Given the description of an element on the screen output the (x, y) to click on. 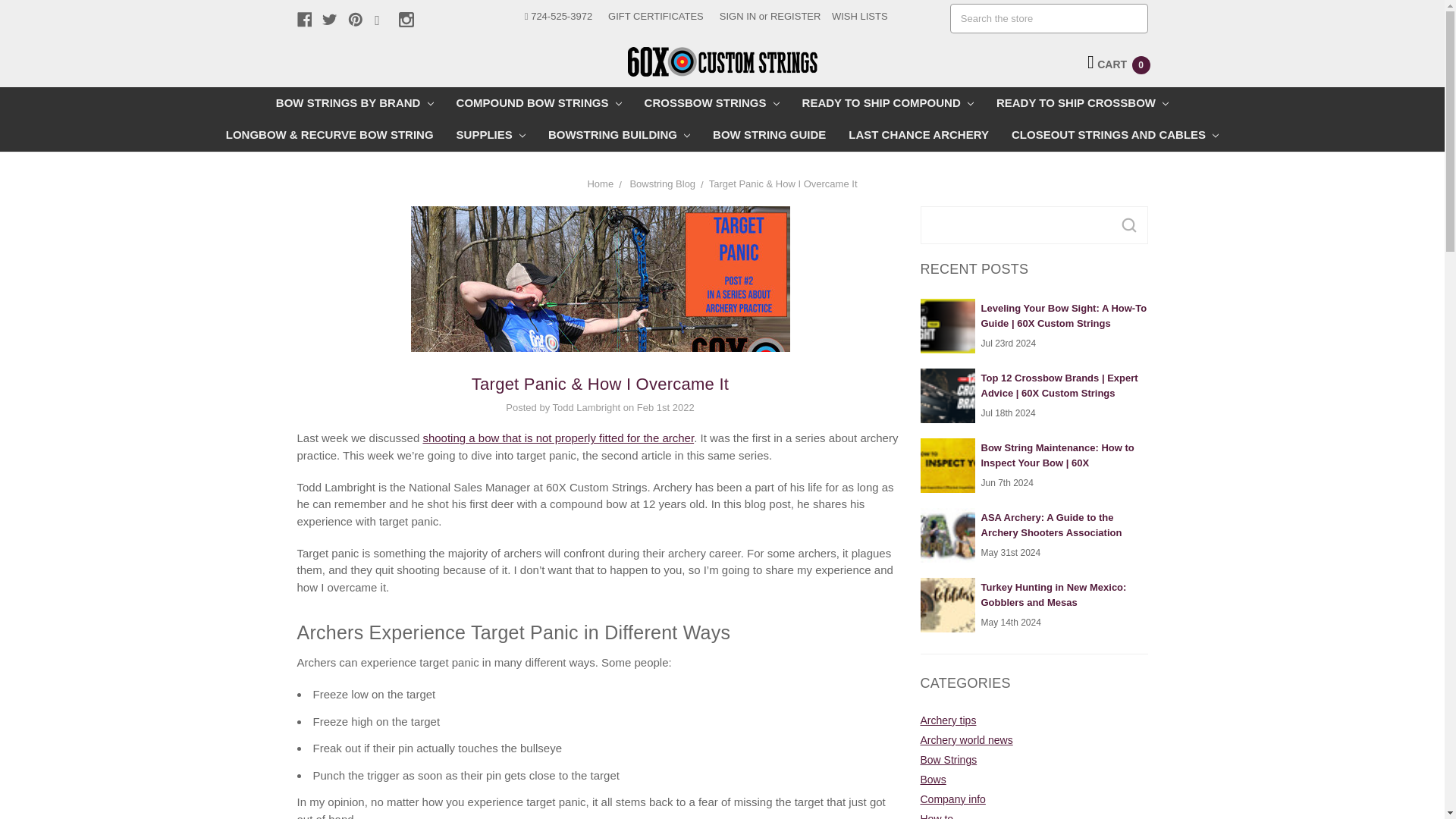
Search (1128, 225)
SIGN IN (736, 16)
GIFT CERTIFICATES (655, 16)
CART 0 (1118, 63)
724-525-3972 (557, 16)
BOW STRINGS BY BRAND (354, 102)
Turkey Hunting in New Mexico: Gobblers and Mesas (947, 605)
ASA Archery: A Guide to the Archery Shooters Association (947, 534)
WISH LISTS (859, 16)
REGISTER (795, 16)
